Given the description of an element on the screen output the (x, y) to click on. 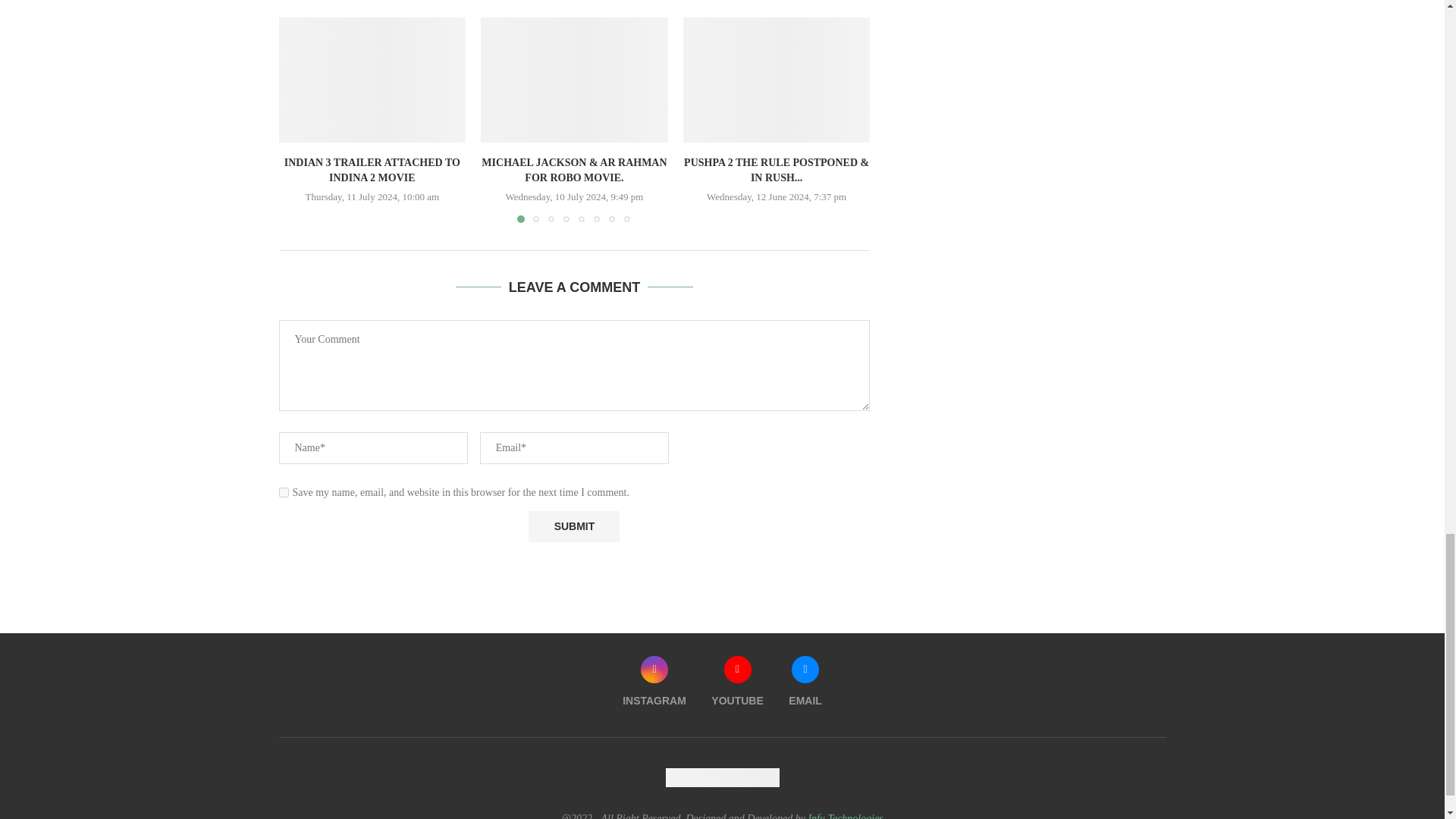
INDIAN 3 TRAILER ATTACHED TO INDINA 2 MOVIE (371, 170)
Indian 3 Trailer Attached to Indina 2 Movie (372, 79)
yes (283, 492)
Submit (574, 526)
